Given the description of an element on the screen output the (x, y) to click on. 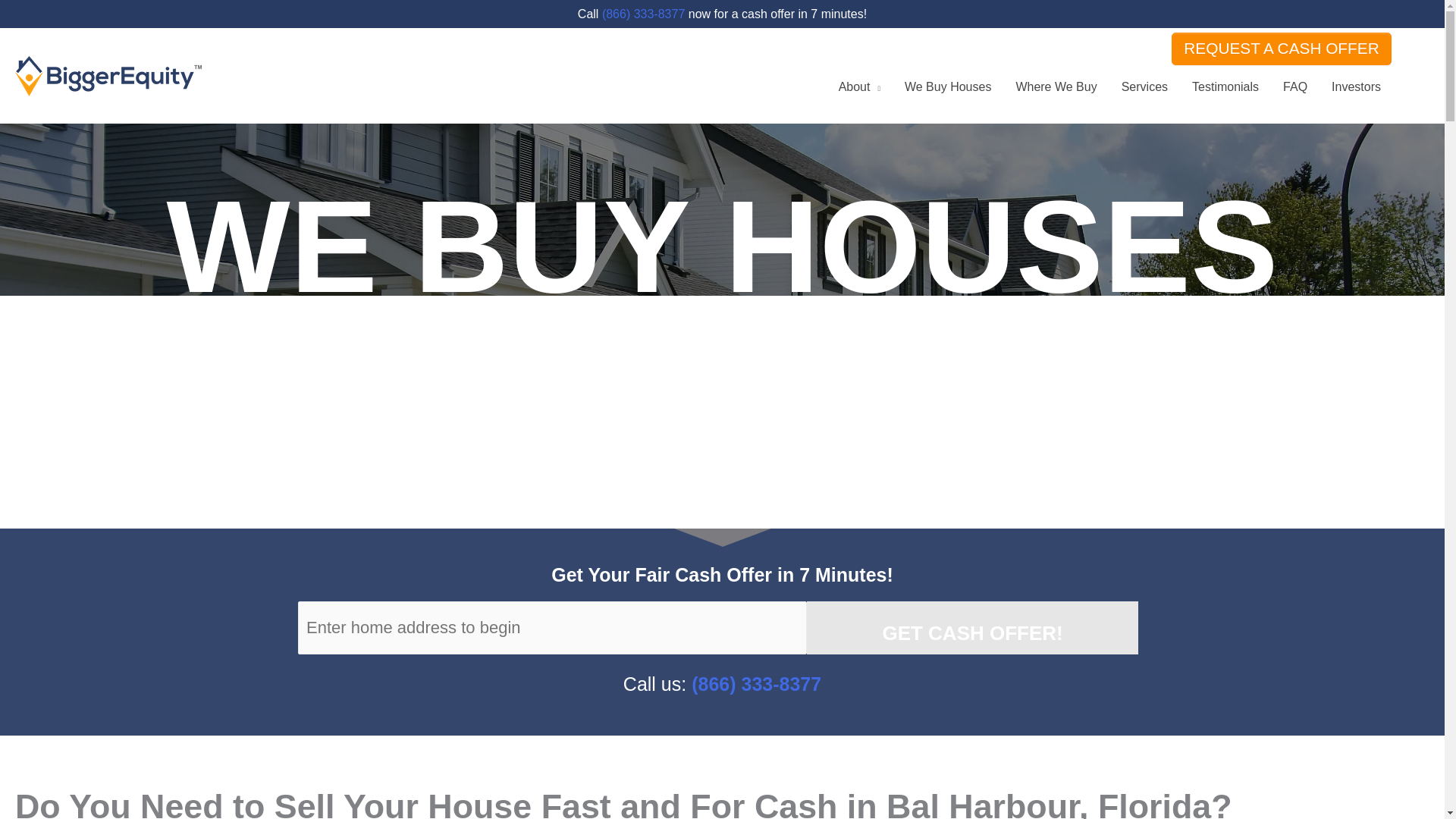
Services (1144, 87)
Testimonials (1225, 87)
REQUEST A CASH OFFER (1281, 48)
GET CASH OFFER! (971, 627)
We Buy Houses (947, 87)
About (859, 87)
FAQ (1295, 87)
Where We Buy (1055, 87)
Investors (1356, 87)
GET CASH OFFER! (971, 627)
